Given the description of an element on the screen output the (x, y) to click on. 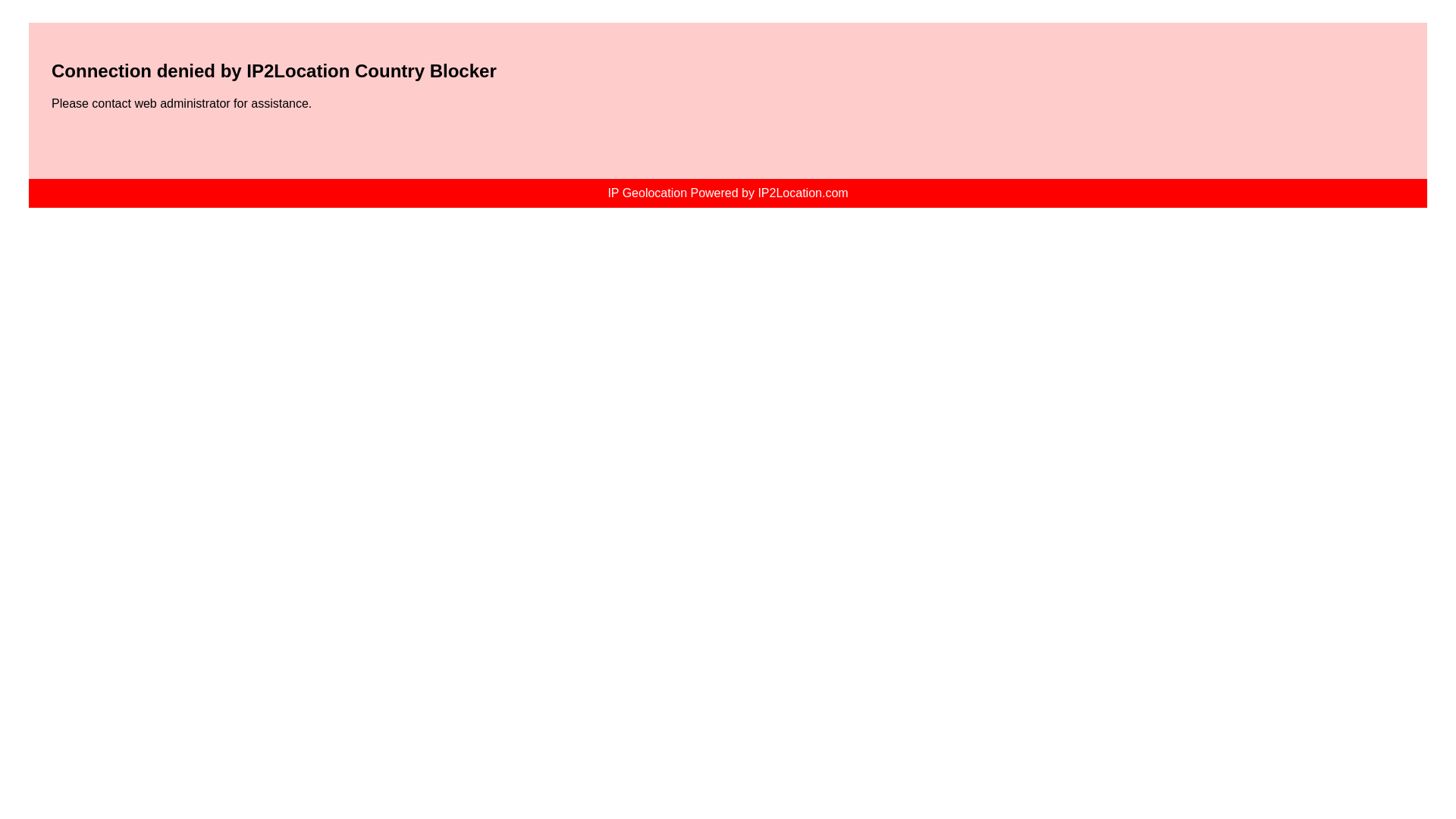
IP Geolocation Powered by IP2Location.com Element type: text (727, 192)
